Given the description of an element on the screen output the (x, y) to click on. 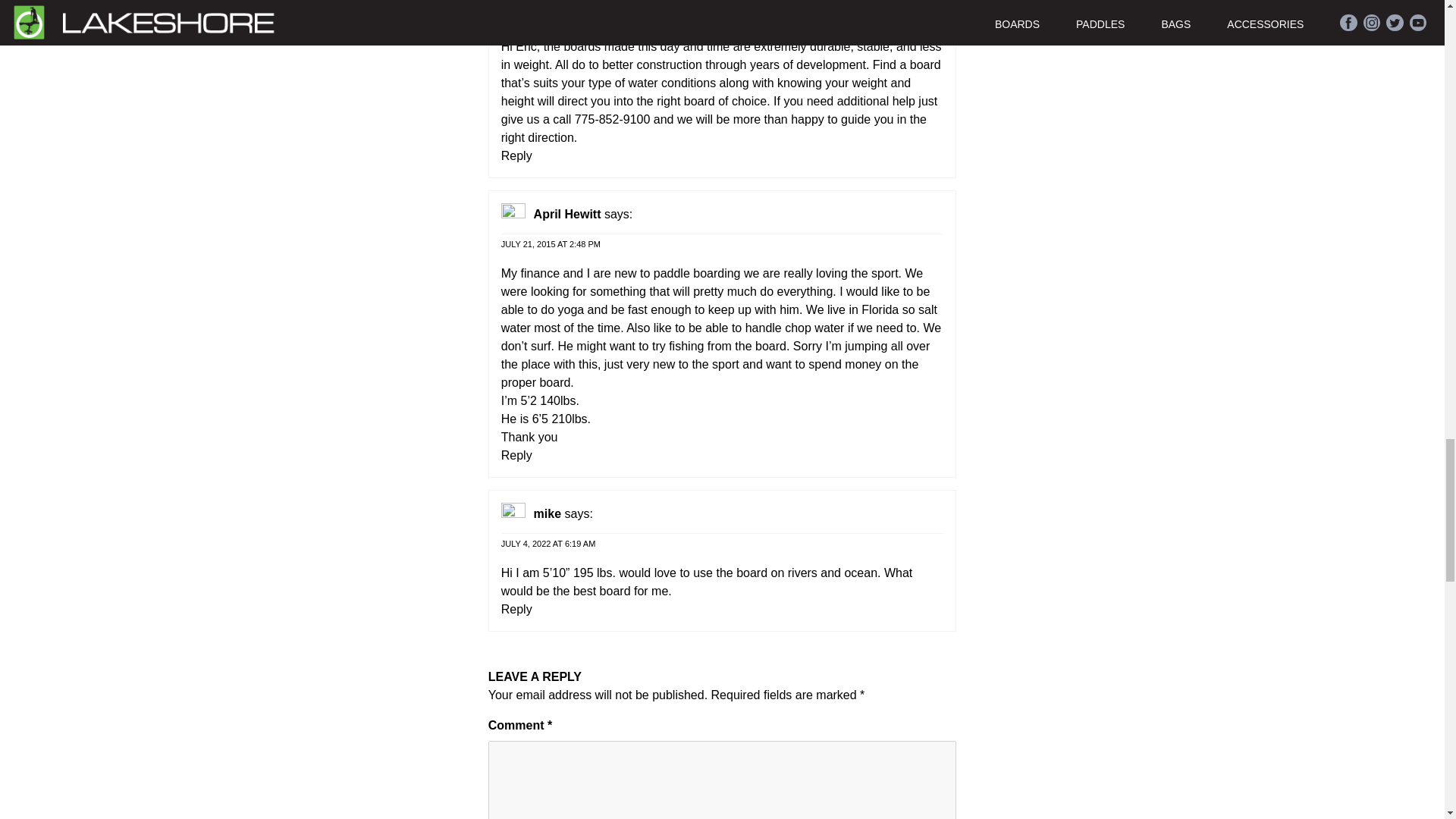
JULY 15, 2015 AT 10:25 PM (552, 15)
Reply (516, 454)
Reply (516, 155)
Reply (516, 608)
JULY 4, 2022 AT 6:19 AM (547, 542)
JULY 21, 2015 AT 2:48 PM (549, 242)
